Given the description of an element on the screen output the (x, y) to click on. 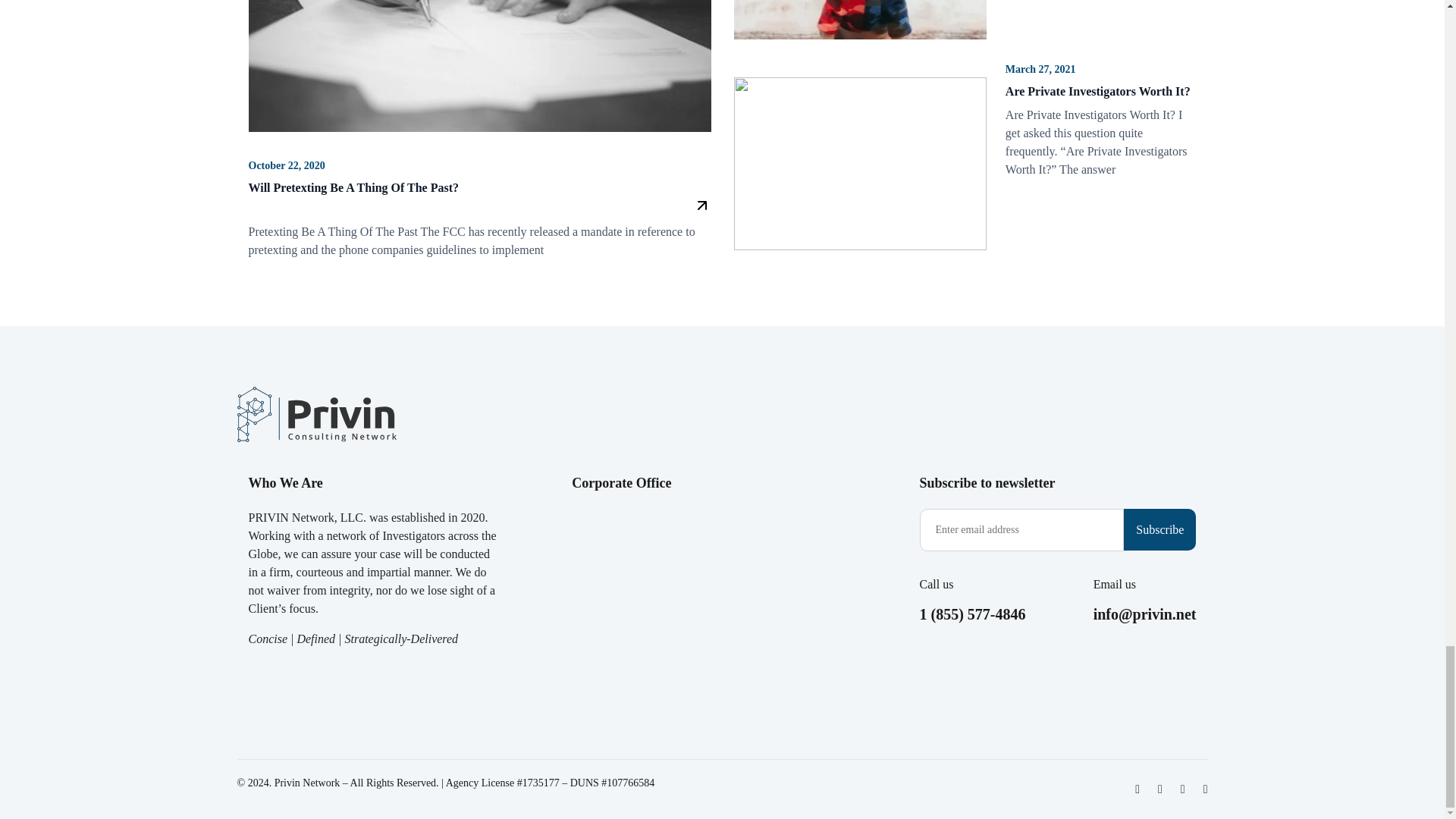
Subscribe (1159, 529)
